Given the description of an element on the screen output the (x, y) to click on. 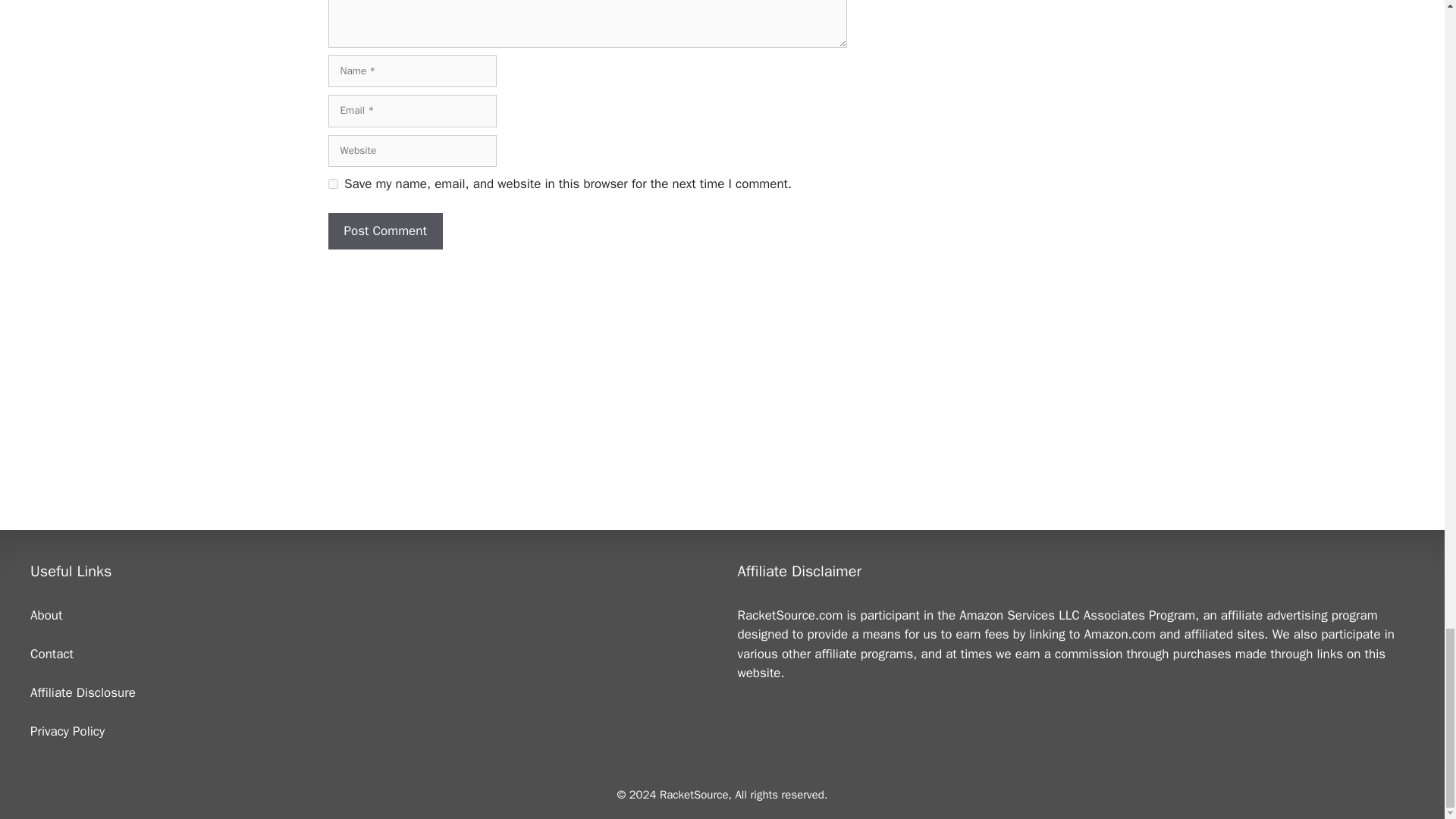
yes (332, 184)
Post Comment (384, 230)
Post Comment (384, 230)
Privacy Policy (67, 731)
Affiliate Disclosure (82, 692)
Advertisement (586, 370)
Contact (52, 653)
About (46, 615)
